Given the description of an element on the screen output the (x, y) to click on. 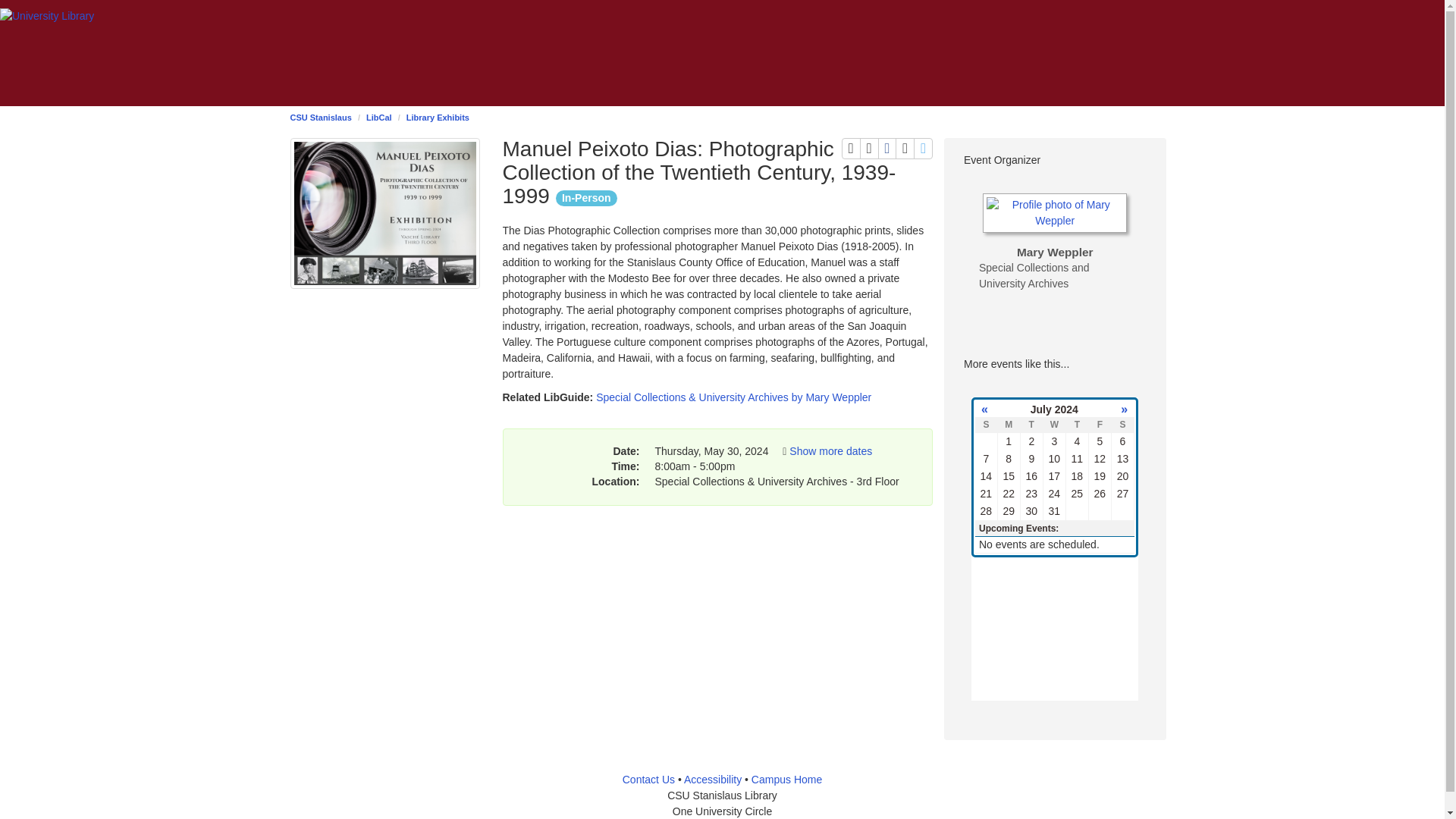
University Library (47, 16)
Accessibility (904, 148)
Library Exhibits (712, 779)
CSU Stanislaus (886, 148)
Print the page (437, 117)
Contact Us (319, 117)
Add to a Calendar using iCal (850, 148)
LibCal (649, 779)
Show more dates (869, 148)
Campus Home (923, 148)
